Given the description of an element on the screen output the (x, y) to click on. 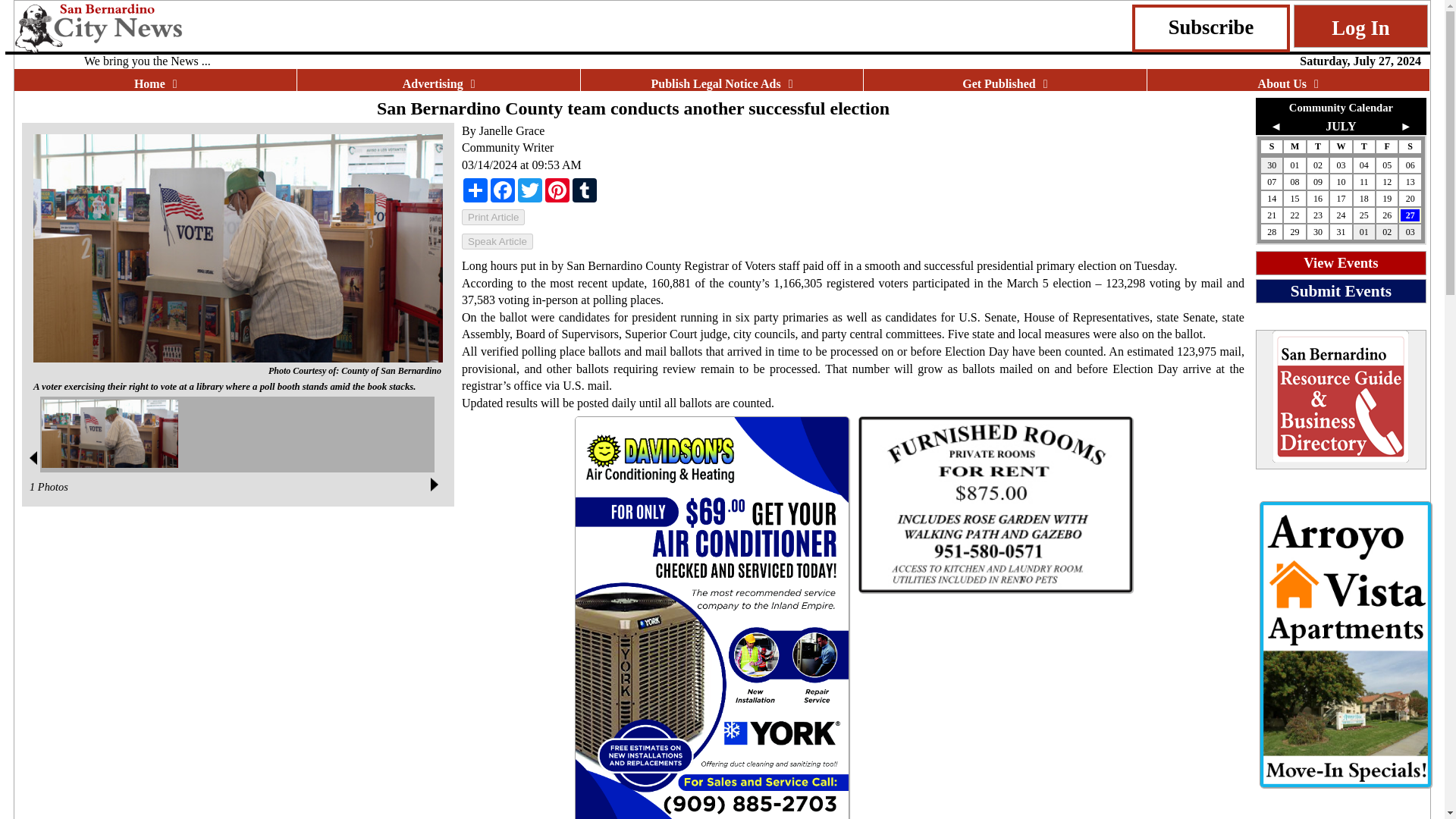
Speak Article (496, 241)
Subscribe (1211, 26)
Print Article (492, 217)
Home (155, 83)
San Bernardino City News Group (175, 27)
Advertising (438, 83)
